Given the description of an element on the screen output the (x, y) to click on. 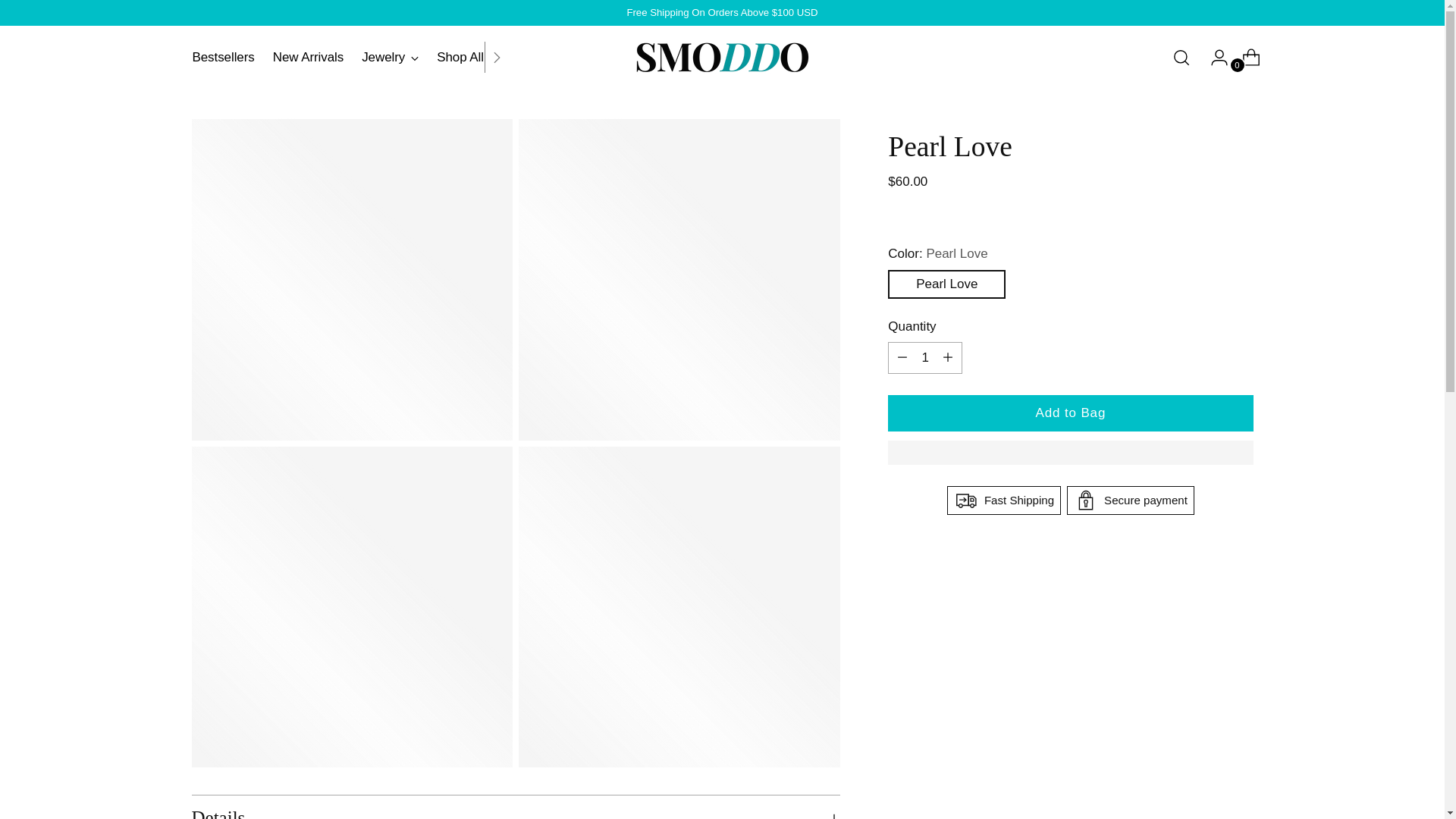
1 (925, 358)
Jewelry (382, 57)
Jewelry (390, 57)
0 (348, 56)
Bestsellers (1245, 57)
New Arrivals (223, 57)
Shop All (308, 57)
